Given the description of an element on the screen output the (x, y) to click on. 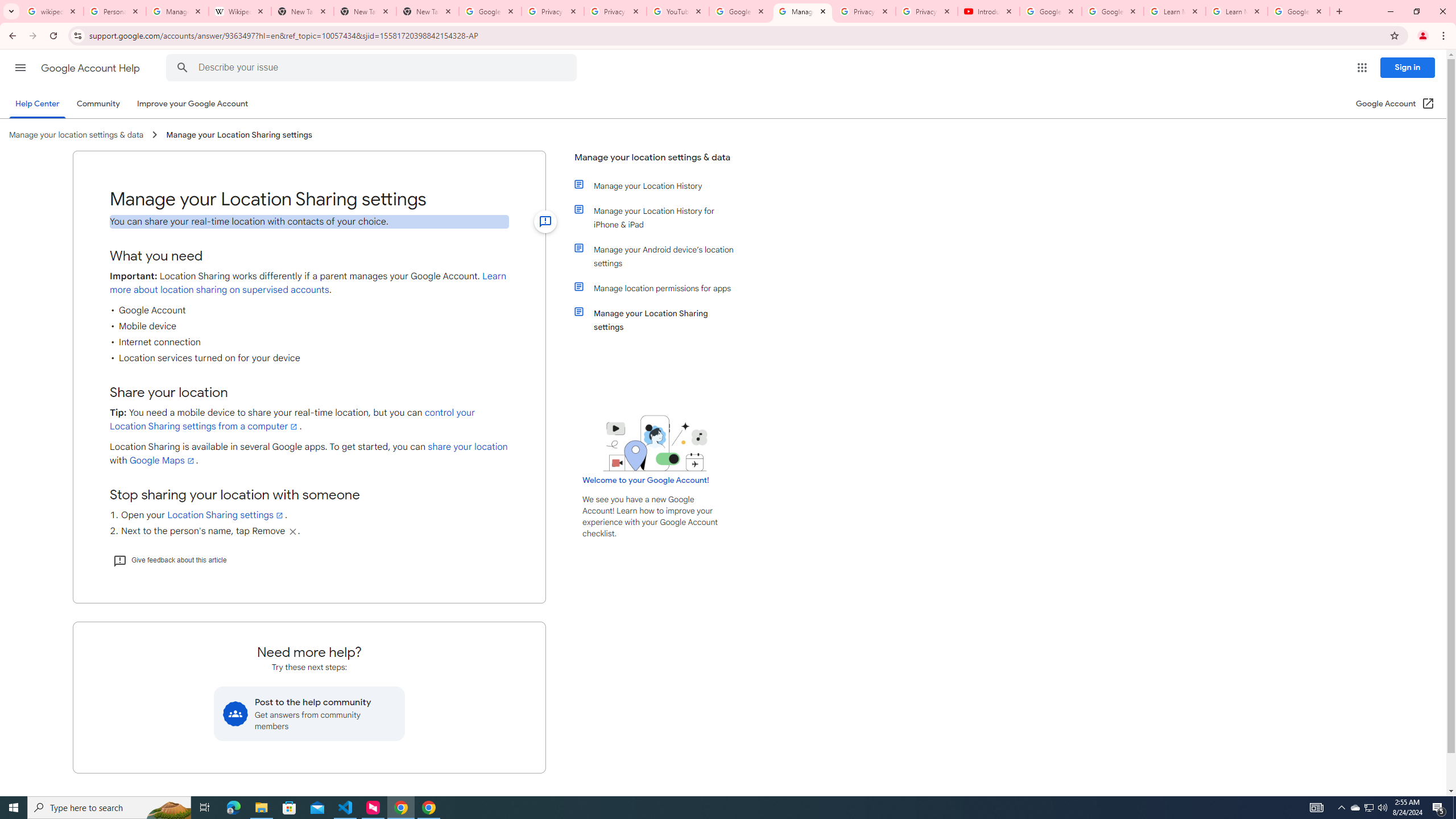
Manage location permissions for apps (661, 288)
Search Help Center (181, 67)
Describe your issue (373, 67)
